Given the description of an element on the screen output the (x, y) to click on. 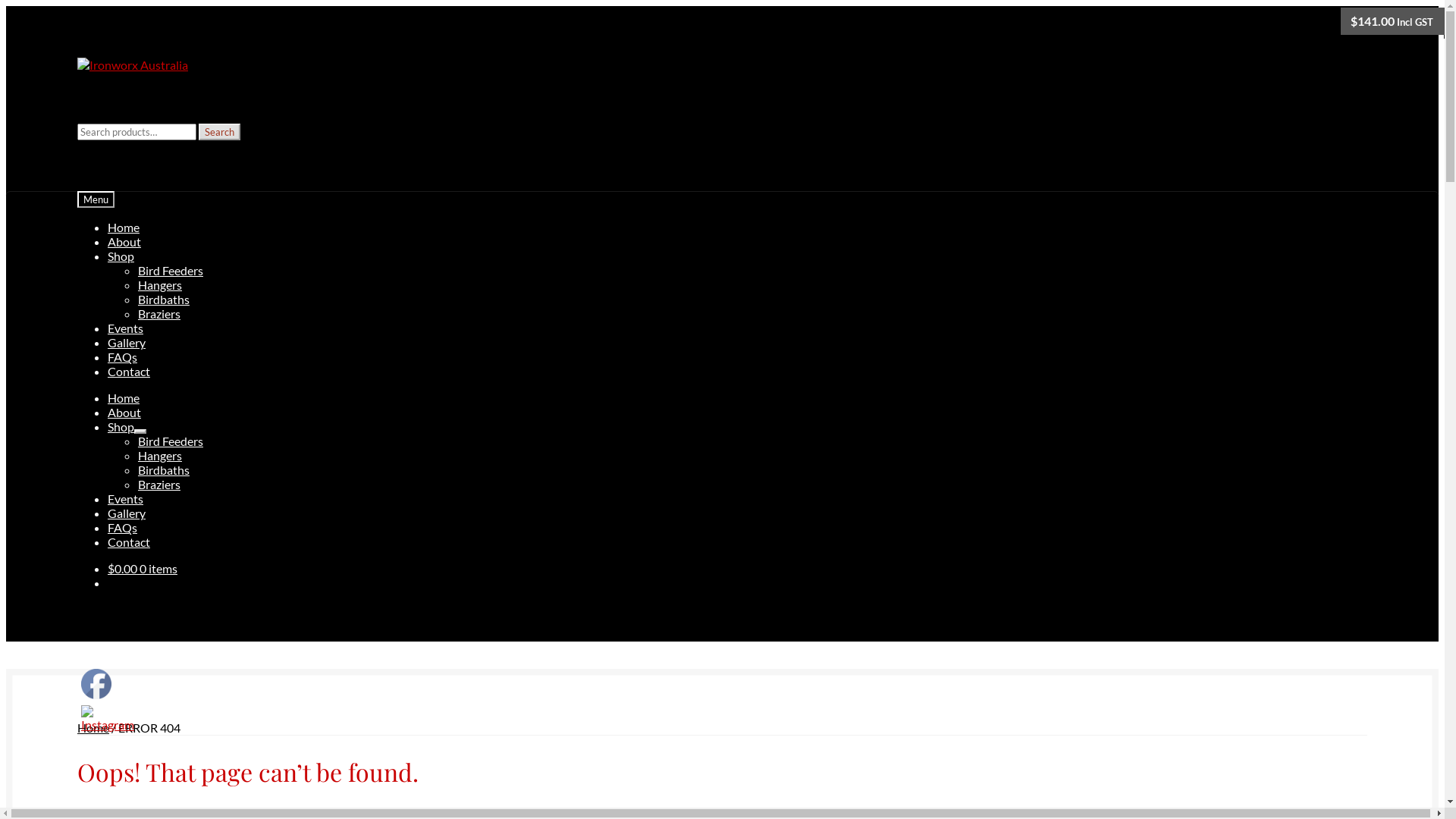
Braziers Element type: text (159, 483)
Contact Element type: text (128, 541)
Bird Feeders Element type: text (170, 440)
Home Element type: text (123, 227)
Shop Element type: text (120, 255)
Home Element type: text (123, 397)
$0.00 0 items Element type: text (142, 568)
Search Element type: text (219, 131)
Skip to navigation Element type: text (76, 56)
Contact Element type: text (128, 371)
FAQs Element type: text (122, 527)
Instagram Element type: hover (107, 718)
Home Element type: text (93, 727)
FAQs Element type: text (122, 356)
Bird Feeders Element type: text (170, 270)
Birdbaths Element type: text (163, 298)
Hangers Element type: text (160, 284)
About Element type: text (124, 412)
Events Element type: text (125, 327)
About Element type: text (124, 241)
Events Element type: text (125, 498)
Facebook Element type: hover (96, 683)
Birdbaths Element type: text (163, 469)
Shop Element type: text (120, 426)
Gallery Element type: text (126, 512)
Gallery Element type: text (126, 342)
Menu Element type: text (95, 199)
Braziers Element type: text (159, 313)
Hangers Element type: text (160, 455)
Expand child menu Element type: text (140, 431)
